Given the description of an element on the screen output the (x, y) to click on. 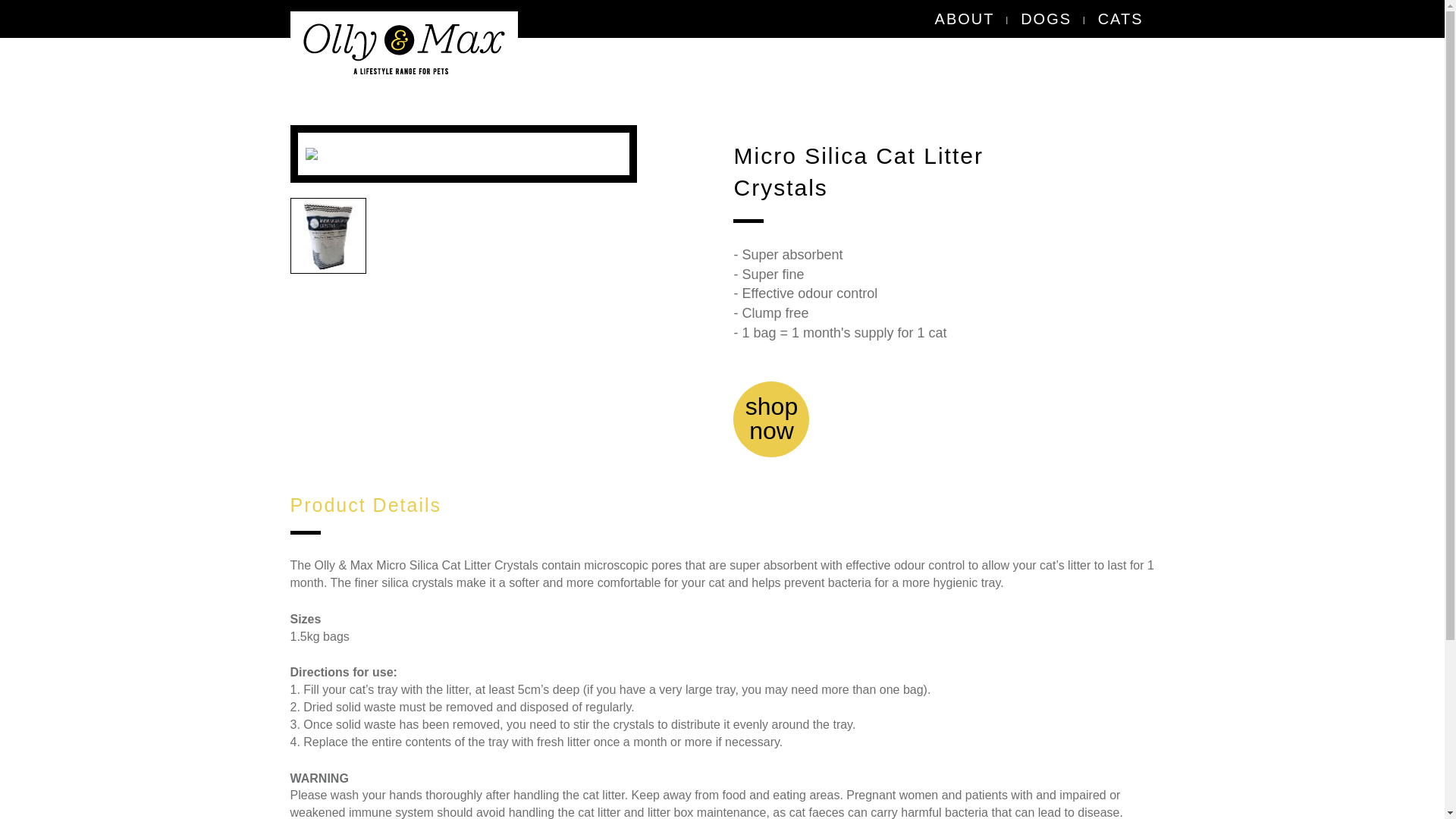
DOGS (1046, 18)
Micro Silica Cat Litter Crystals (327, 235)
ABOUT (964, 18)
CATS (771, 419)
